Given the description of an element on the screen output the (x, y) to click on. 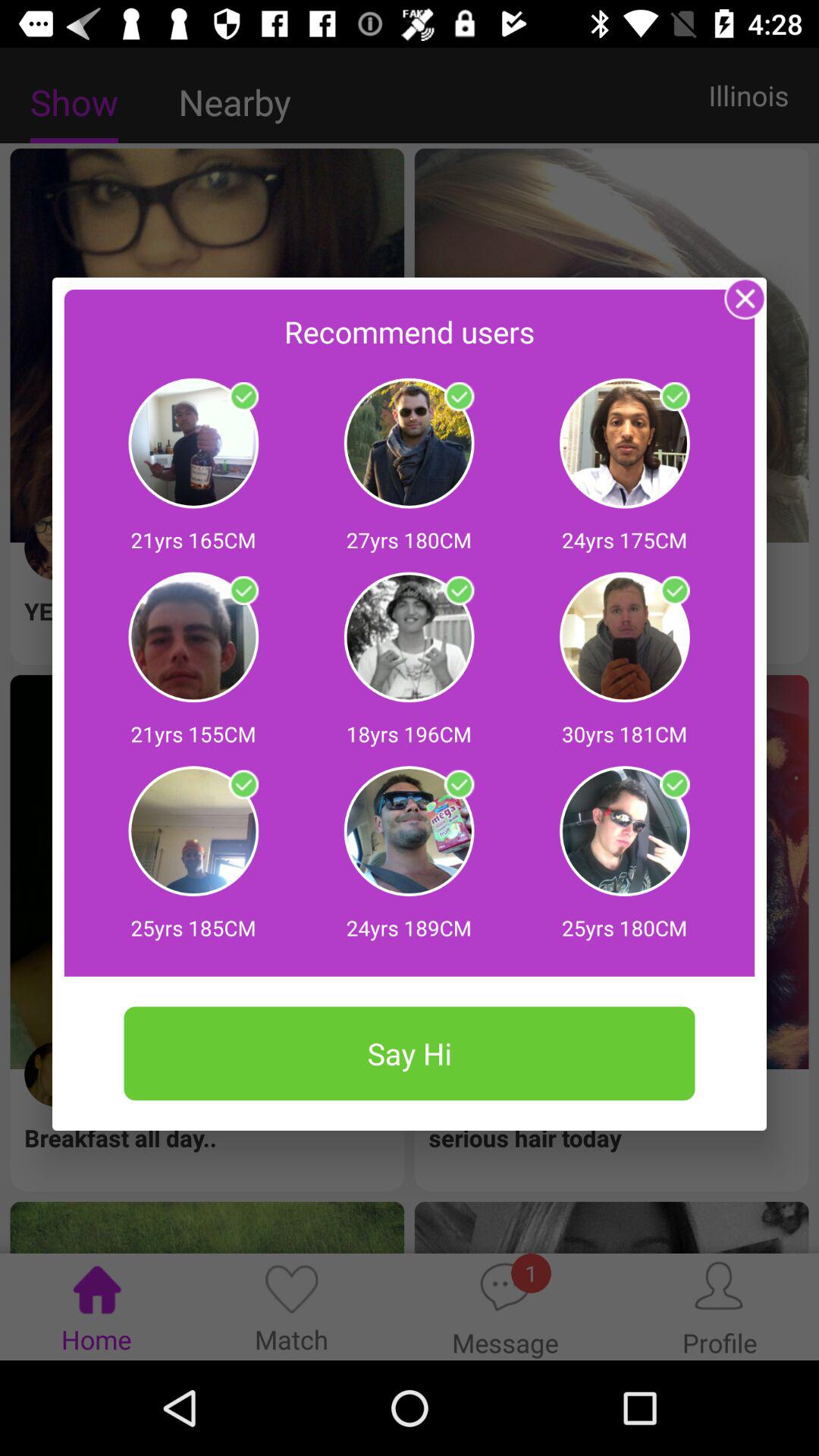
check out the user profile (674, 784)
